Given the description of an element on the screen output the (x, y) to click on. 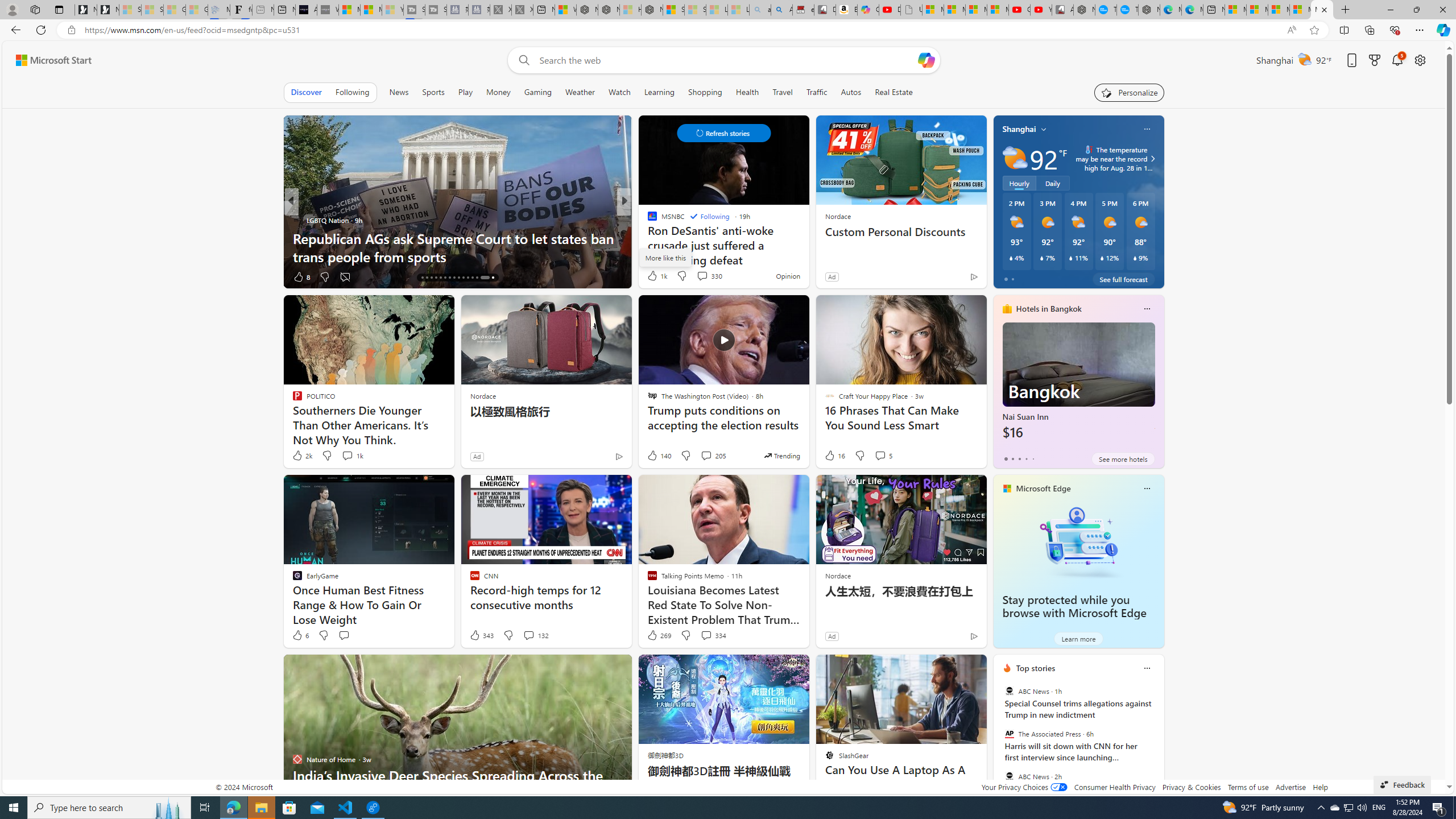
Comments turned off for this story (344, 276)
tab-4 (1032, 458)
Help (1320, 786)
140 Like (658, 455)
Top stories (1035, 668)
View comments 96 Comment (6, 276)
View comments 5 Comment (882, 455)
tab-2 (1019, 458)
View comments 330 Comment (701, 275)
